Given the description of an element on the screen output the (x, y) to click on. 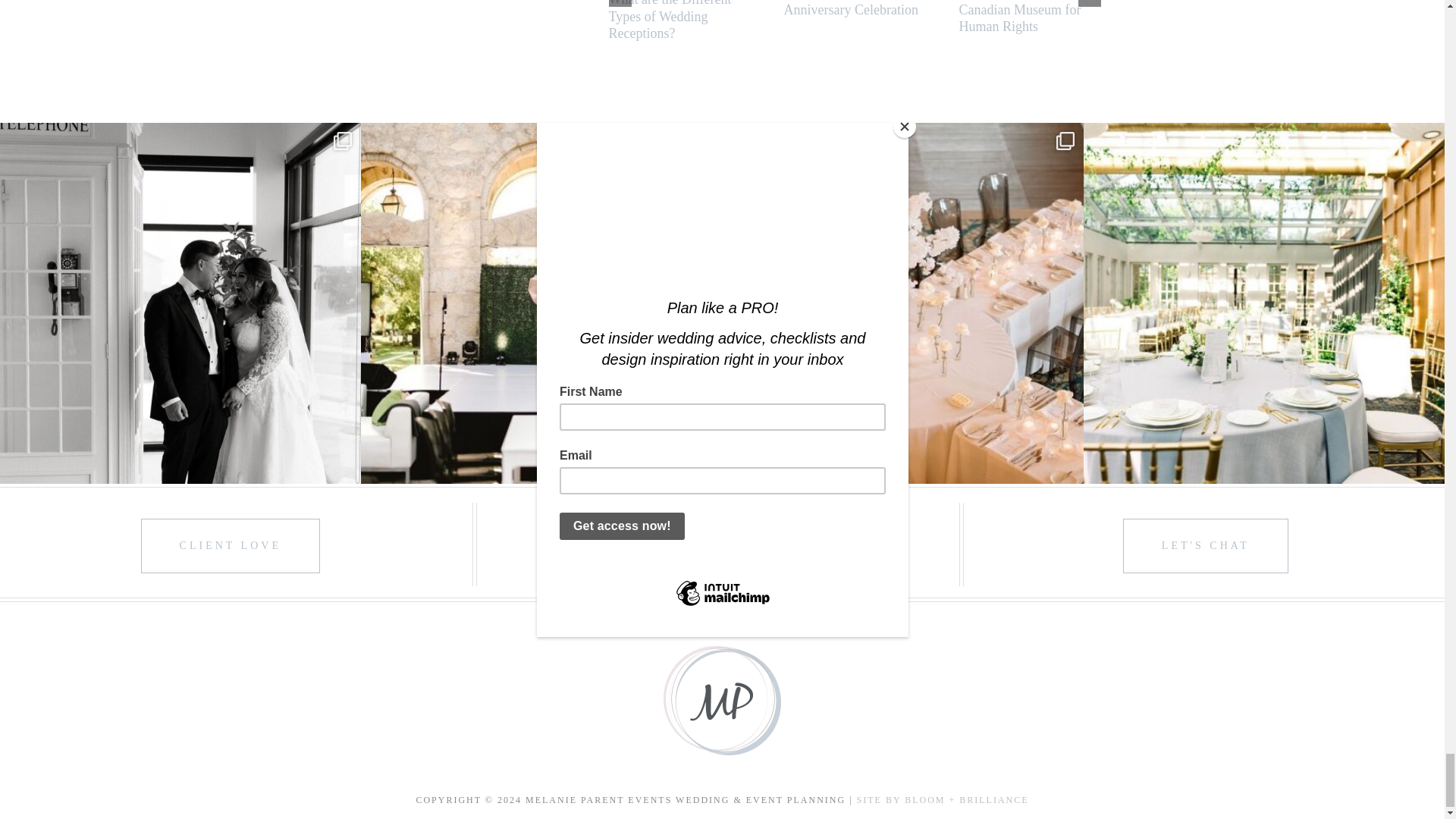
Luxury Wedding at the Canadian Museum for Human Rights (1021, 17)
Princess Auto 90th Anniversary Celebration (851, 8)
What are the Different Types of Wedding Receptions? (669, 20)
